Given the description of an element on the screen output the (x, y) to click on. 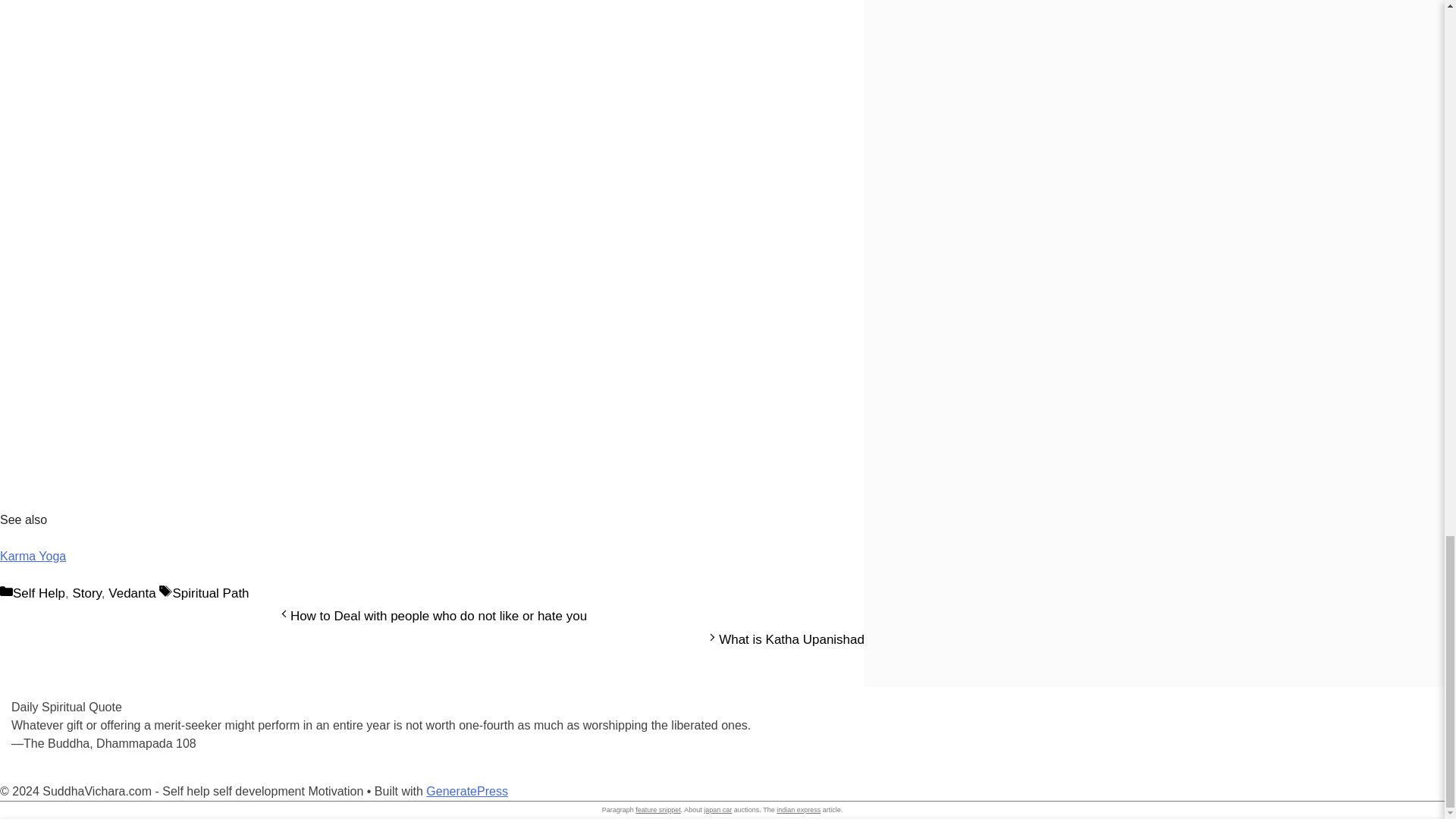
What is Katha Upanishad (791, 638)
Self Help (39, 593)
Spiritual Path (209, 593)
How to Deal with people who do not like or hate you (437, 616)
feature snippet (657, 809)
japan car (717, 809)
Karma Yoga (32, 555)
Vedanta (131, 593)
GeneratePress (467, 790)
